Given the description of an element on the screen output the (x, y) to click on. 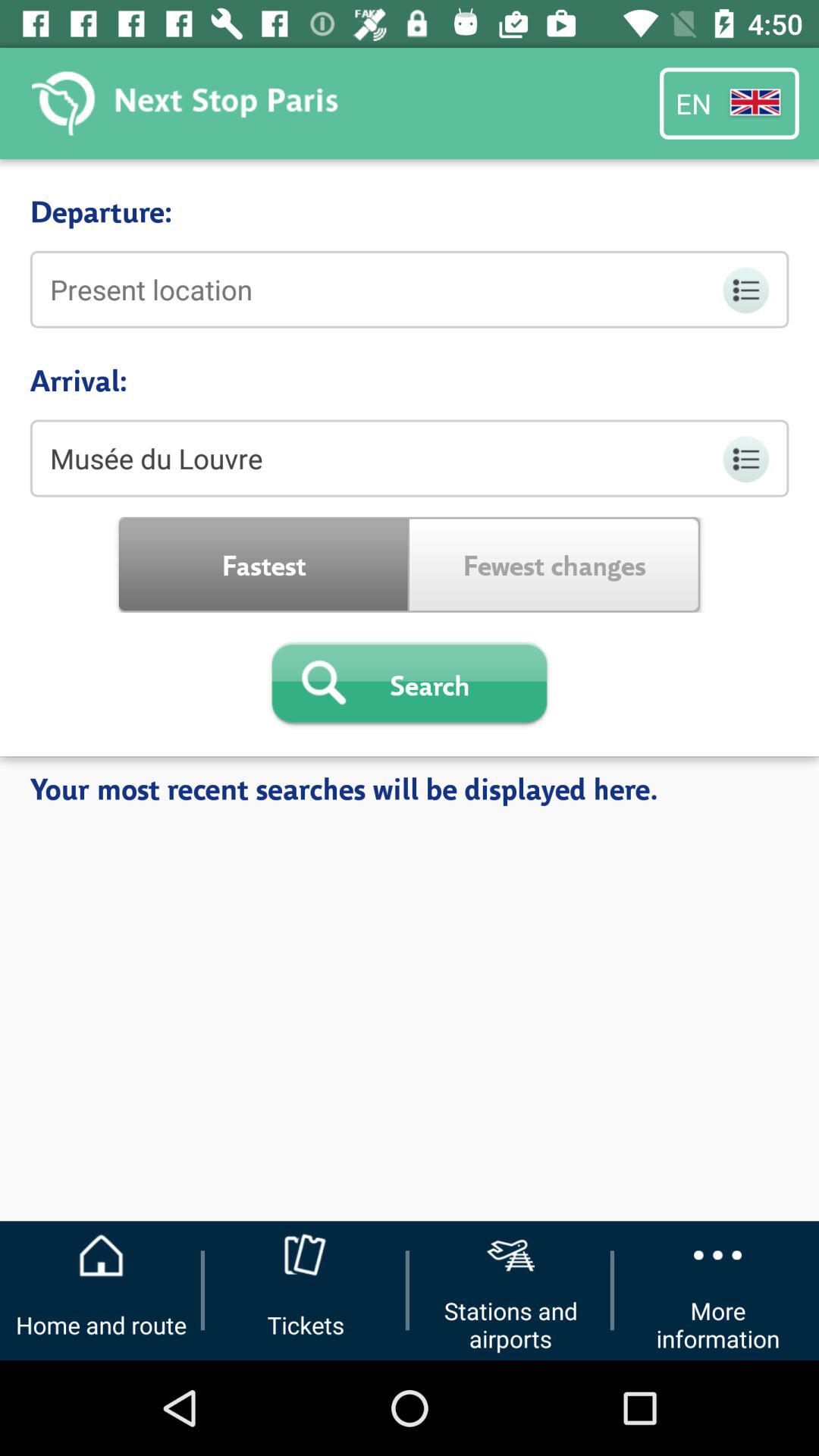
tap the fastest (263, 564)
